Given the description of an element on the screen output the (x, y) to click on. 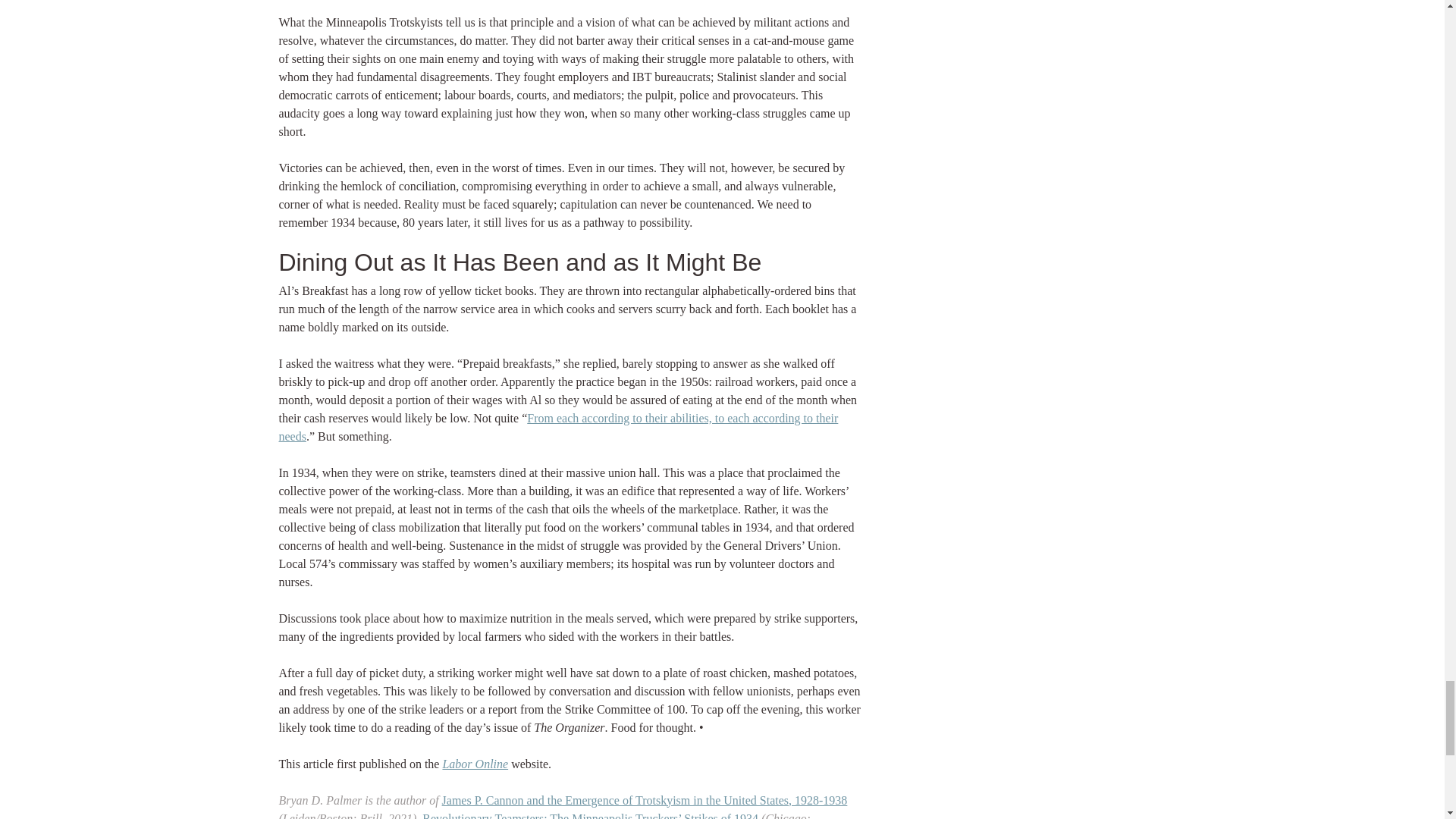
Labor Online (475, 762)
